Given the description of an element on the screen output the (x, y) to click on. 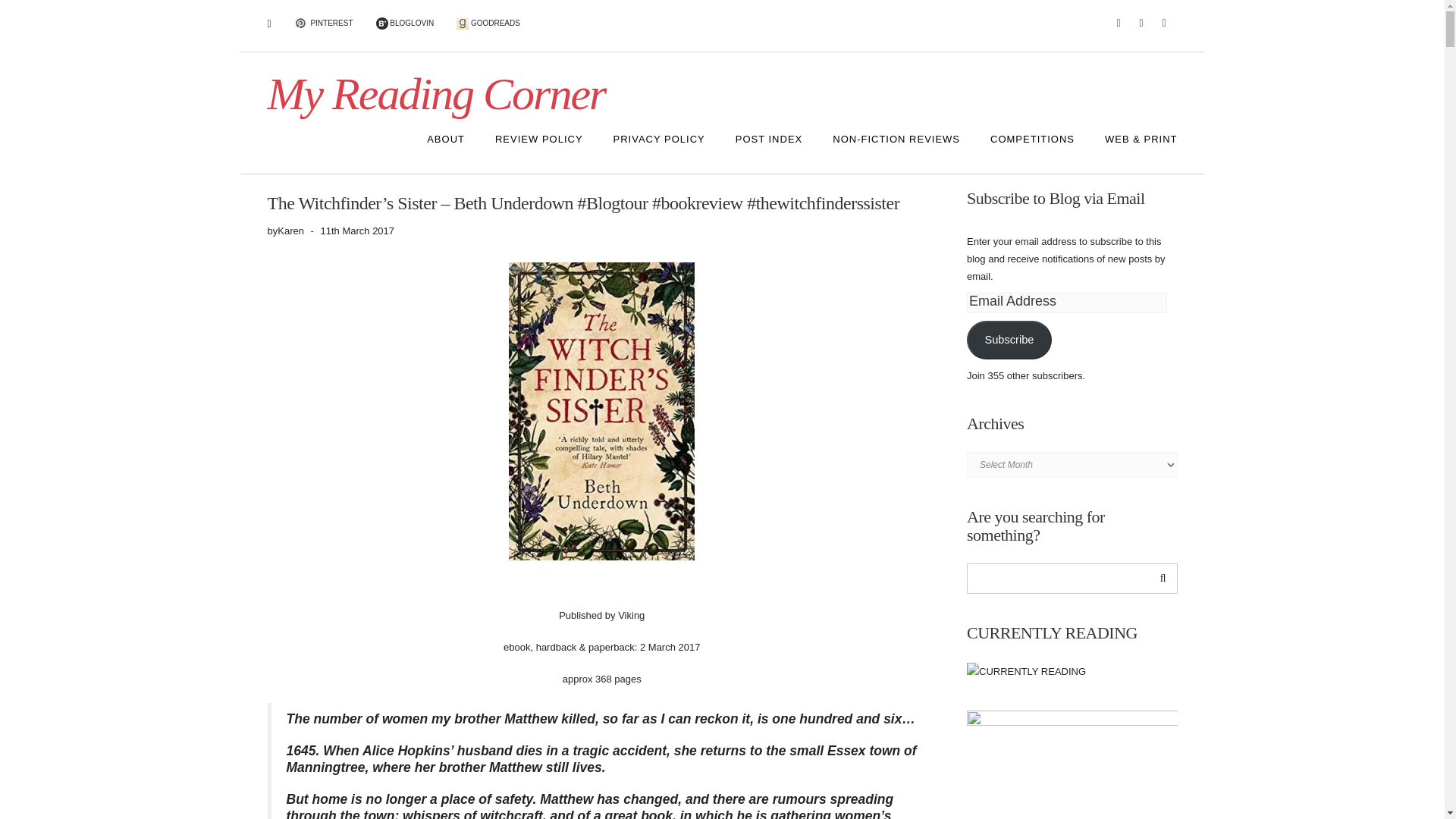
NON-FICTION REVIEWS (895, 139)
PINTEREST (323, 24)
My Reading Corner (435, 93)
GOODREADS (488, 24)
COMPETITIONS (1032, 139)
Twitter (1117, 22)
POST INDEX (769, 139)
Instagram (1140, 22)
REVIEW POLICY (539, 139)
BLOGLOVIN (405, 24)
